Given the description of an element on the screen output the (x, y) to click on. 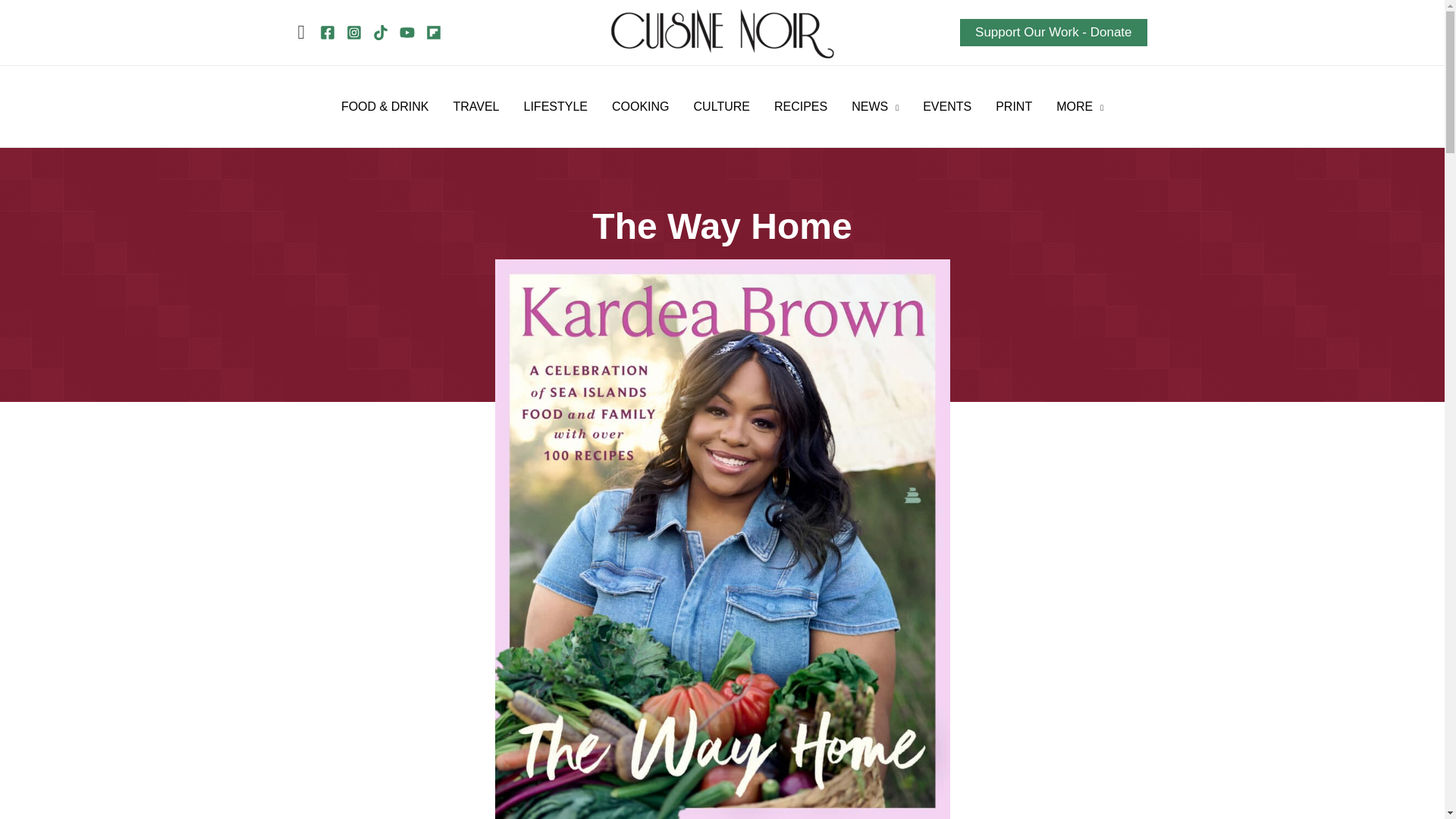
TRAVEL (476, 106)
RECIPES (800, 106)
NEWS (875, 106)
COOKING (640, 106)
PRINT (1013, 106)
EVENTS (947, 106)
CULTURE (721, 106)
Support Our Work - Donate (1053, 31)
MORE (1079, 106)
LIFESTYLE (555, 106)
